Given the description of an element on the screen output the (x, y) to click on. 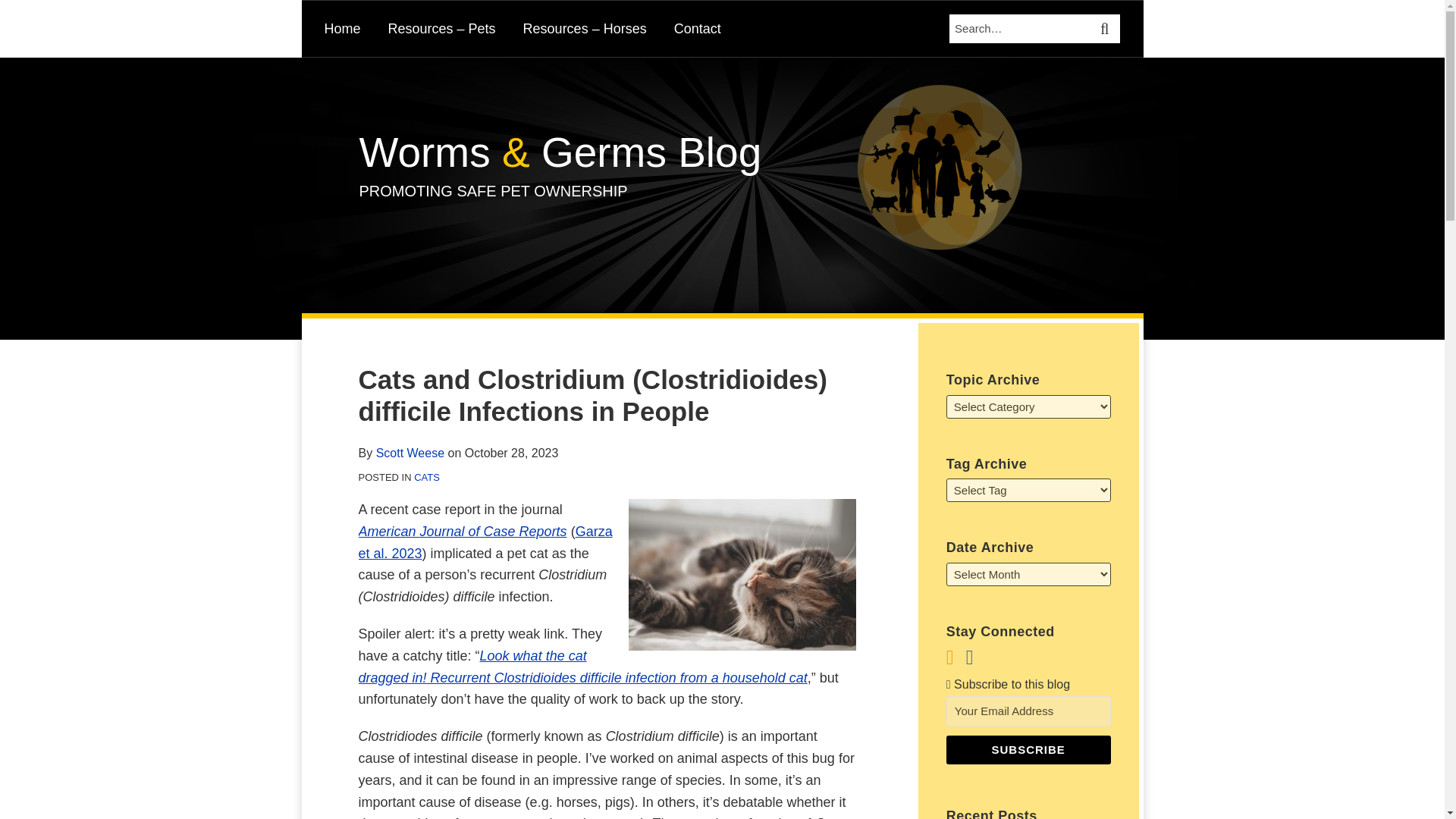
Contact (697, 28)
Scott Weese (409, 452)
Home (342, 28)
SEARCH (1106, 28)
Garza et al. 2023 (484, 542)
CATS (426, 477)
American Journal of Case Reports (462, 531)
Subscribe (1028, 749)
Subscribe (1028, 749)
